Given the description of an element on the screen output the (x, y) to click on. 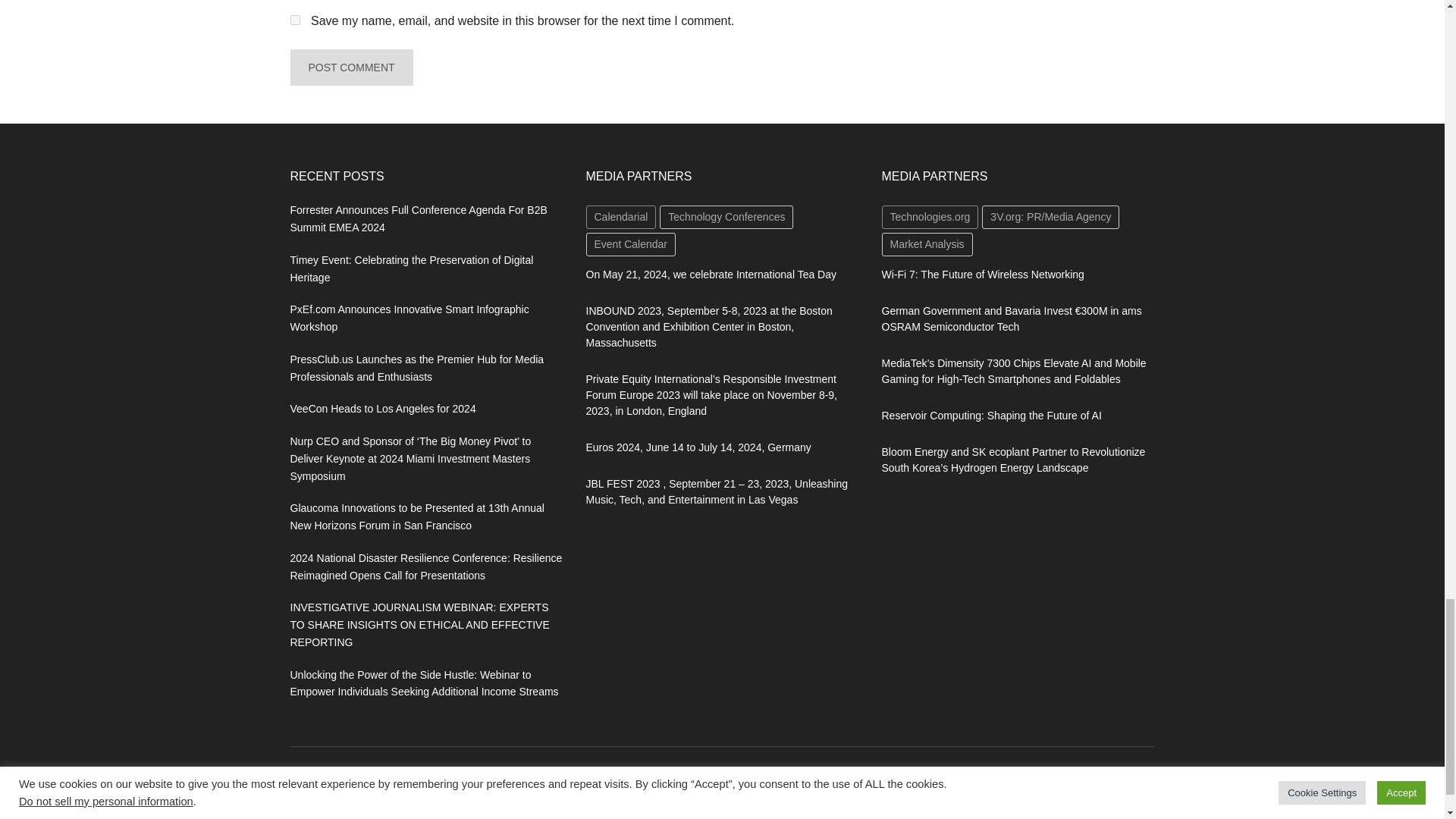
yes (294, 20)
On May 21, 2024, we celebrate International Tea Day (710, 274)
Euros 2024, June 14 to July 14, 2024, Germany (697, 447)
Post Comment (350, 67)
Wi-Fi 7: The Future of Wireless Networking (981, 274)
PxEf.com Announces Innovative Smart Infographic Workshop (408, 317)
VeeCon Heads to Los Angeles for 2024 (382, 408)
Post Comment (350, 67)
